Given the description of an element on the screen output the (x, y) to click on. 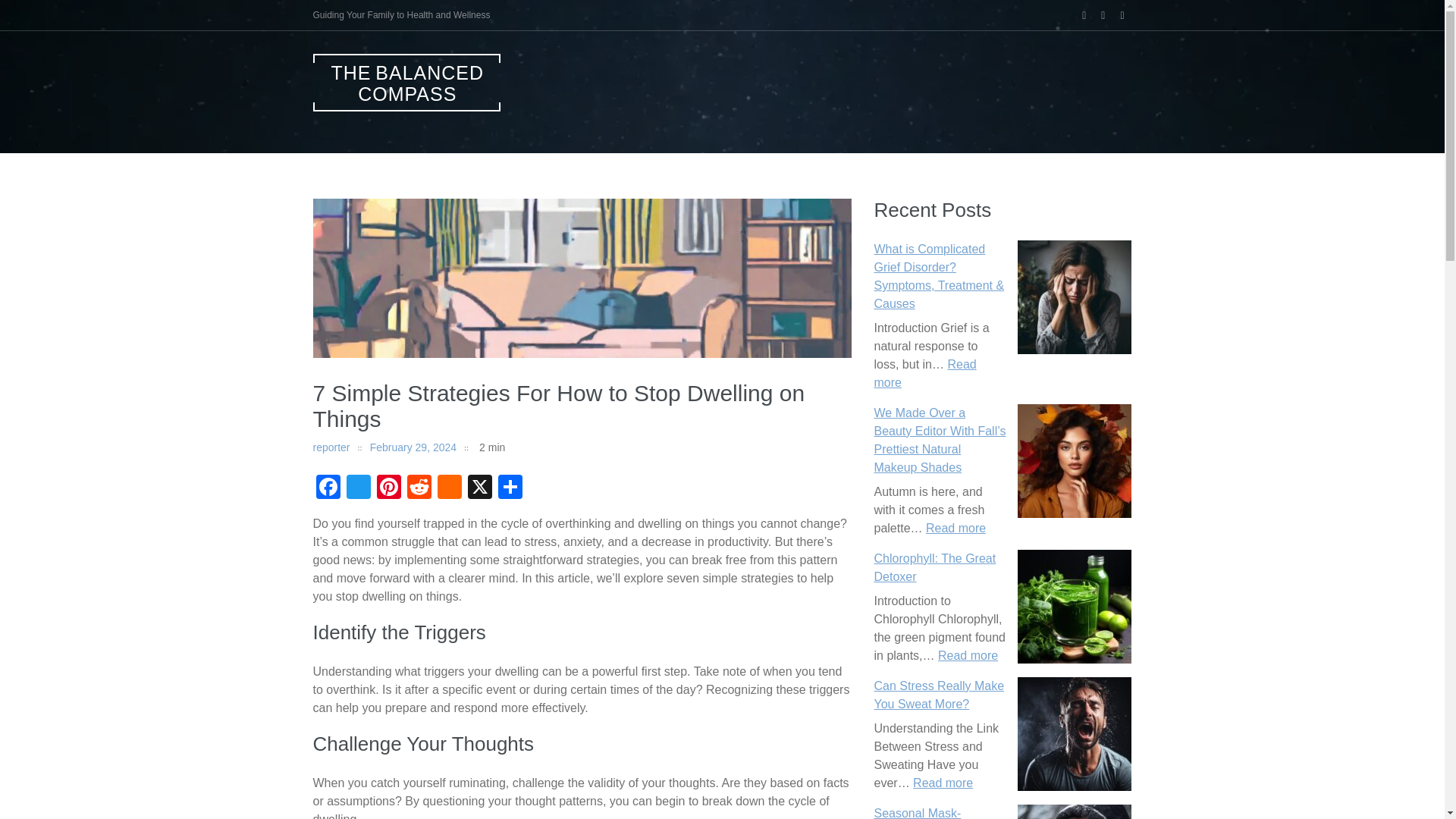
Share (509, 488)
February 29, 2024 (413, 447)
X (479, 488)
Reading Time (484, 447)
Reddit (967, 655)
Twitter (418, 488)
Facebook (357, 488)
Chlorophyll: The Great Detoxer (327, 488)
Skip to content (934, 567)
Facebook (357, 488)
Hacker News (327, 488)
Pinterest (448, 488)
Reddit (387, 488)
